Given the description of an element on the screen output the (x, y) to click on. 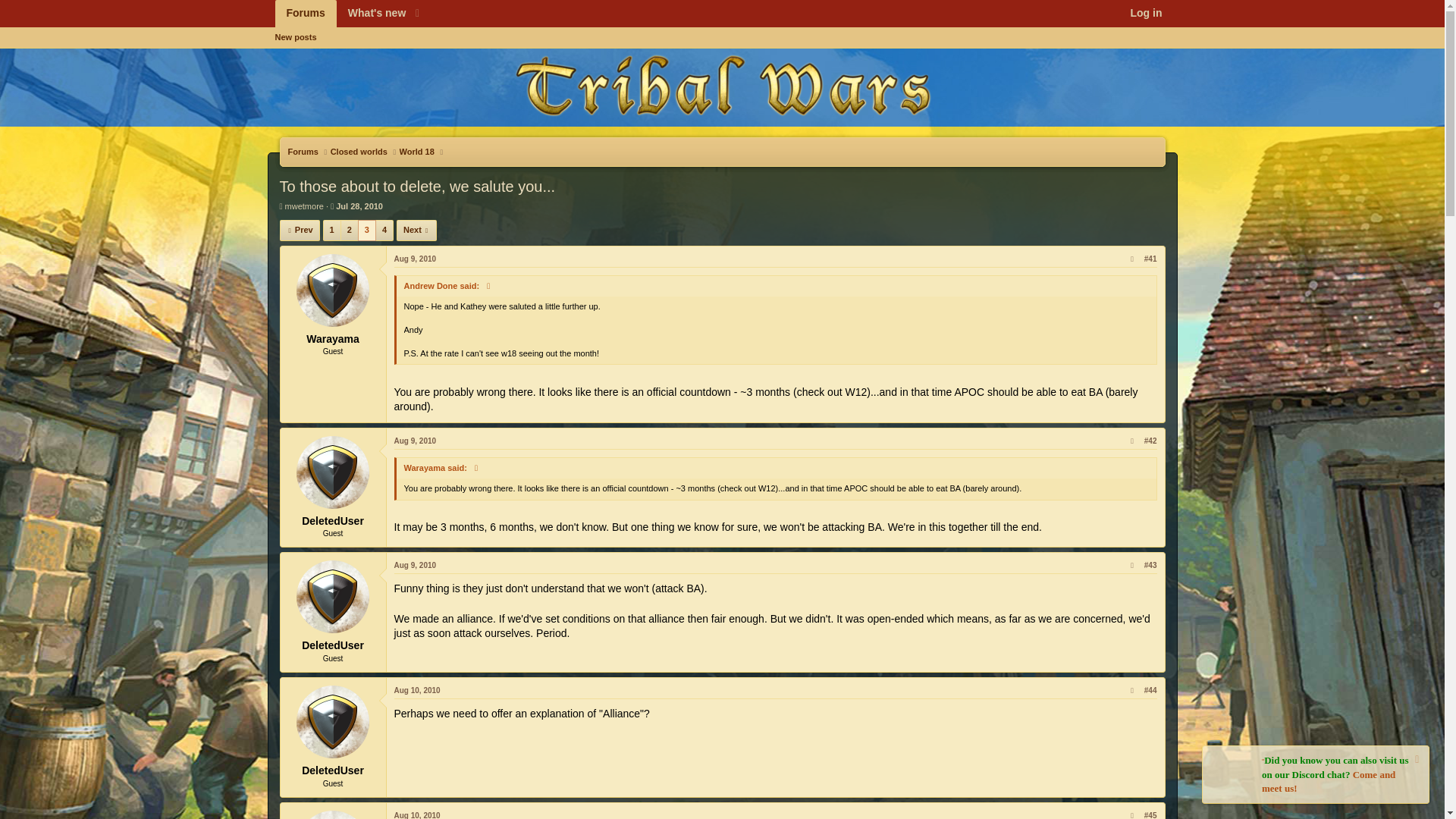
Closed worlds (358, 151)
Aug 10, 2010 at 6:41 PM (417, 815)
Aug 9, 2010 (415, 258)
What's new (349, 30)
Jul 28, 2010 (371, 13)
DeletedUser (359, 205)
DeletedUser (333, 596)
Next (333, 471)
DeletedUser (416, 230)
World 18 (333, 721)
New posts (415, 151)
Andrew Done said: (720, 54)
Forums (349, 13)
